Given the description of an element on the screen output the (x, y) to click on. 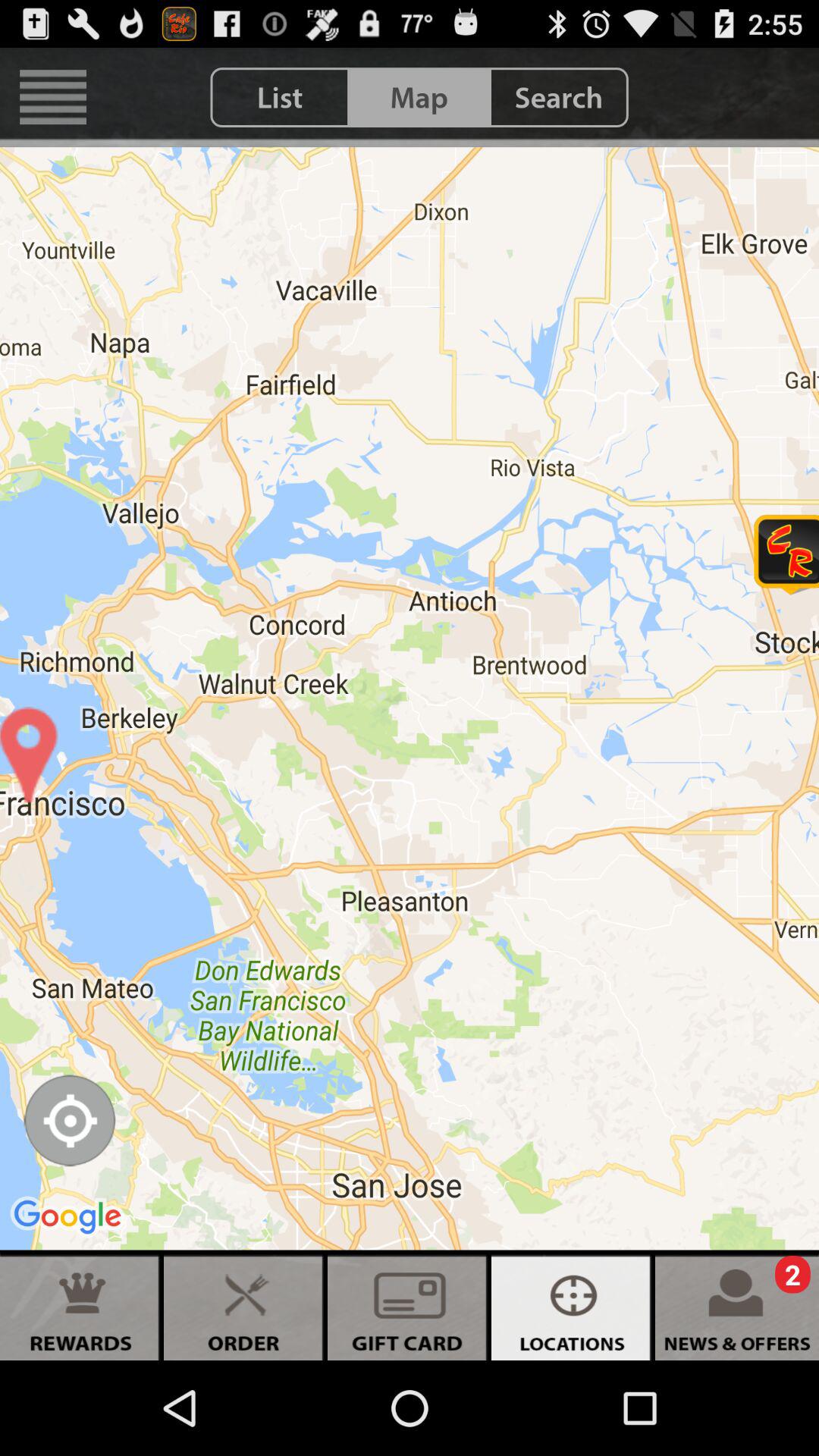
tap the item next to the map (279, 97)
